Given the description of an element on the screen output the (x, y) to click on. 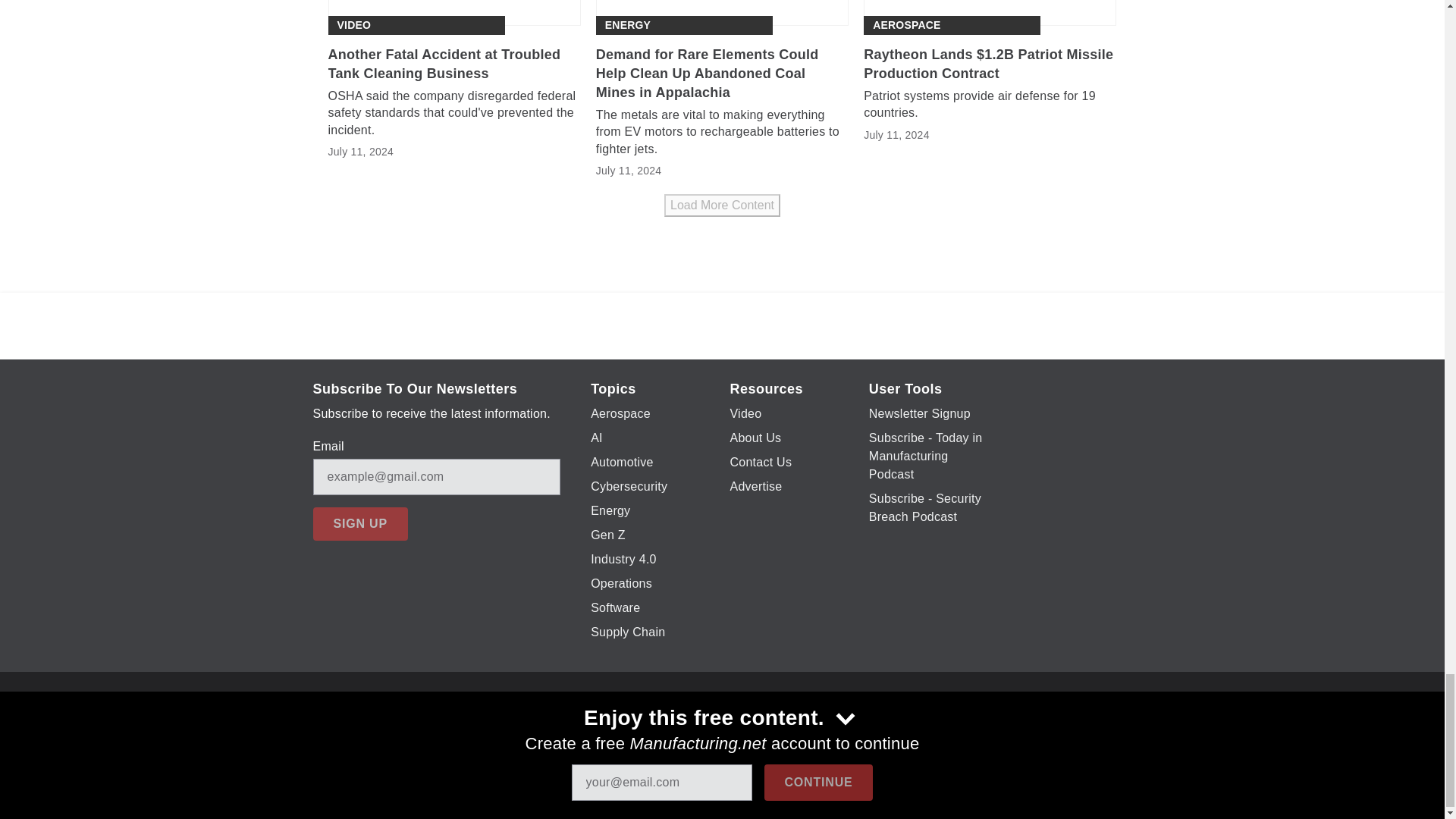
Facebook icon (656, 728)
LinkedIn icon (775, 728)
Twitter X icon (696, 728)
YouTube icon (735, 728)
